Given the description of an element on the screen output the (x, y) to click on. 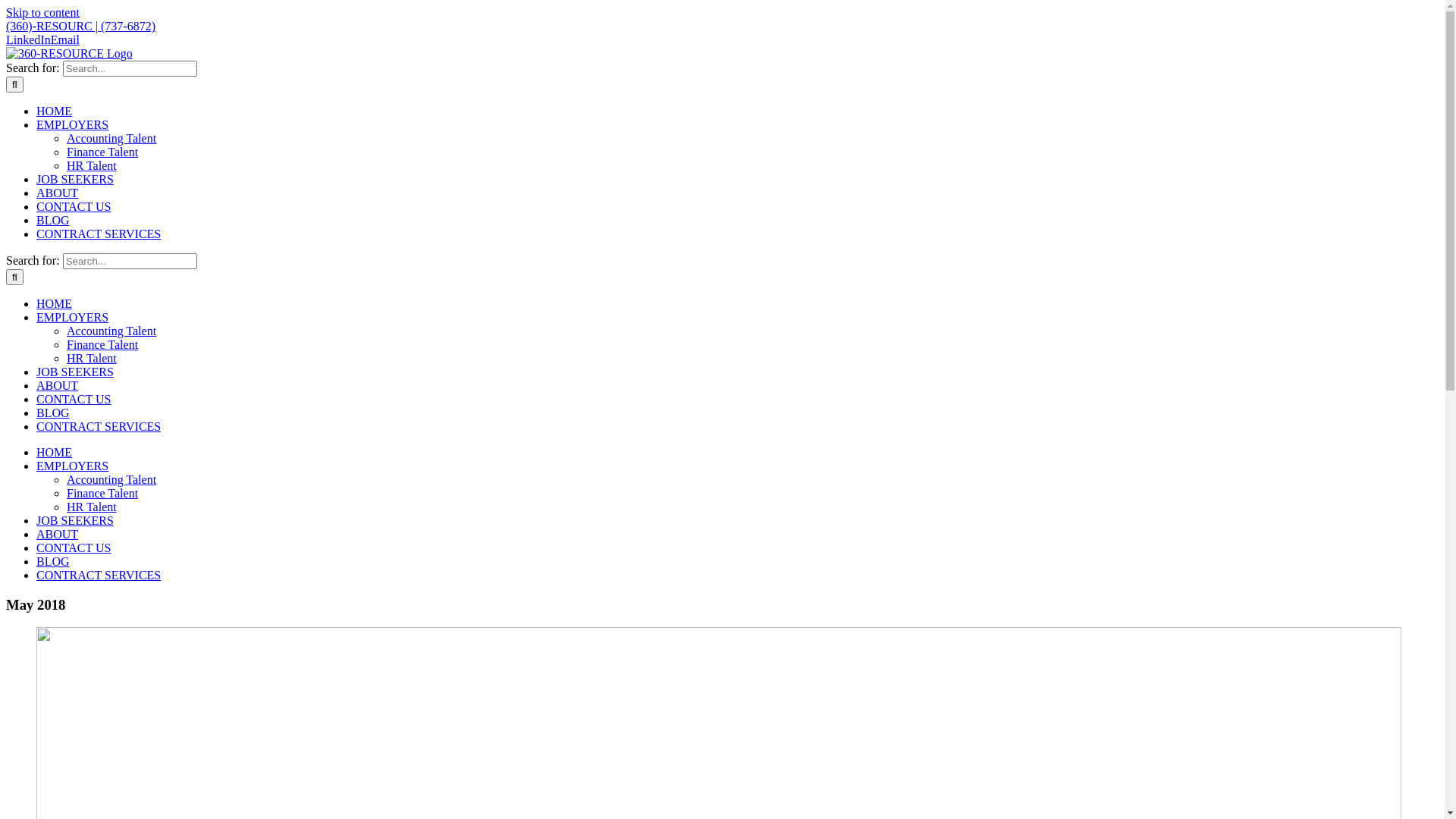
EMPLOYERS Element type: text (72, 124)
CONTACT US Element type: text (73, 547)
Skip to content Element type: text (42, 12)
Finance Talent Element type: text (102, 344)
HOME Element type: text (54, 110)
HR Talent Element type: text (91, 506)
CONTACT US Element type: text (73, 206)
LinkedIn Element type: text (28, 39)
ABOUT Element type: text (57, 533)
EMPLOYERS Element type: text (72, 316)
Accounting Talent Element type: text (111, 137)
HOME Element type: text (54, 303)
ABOUT Element type: text (57, 385)
Accounting Talent Element type: text (111, 330)
CONTACT US Element type: text (73, 398)
Accounting Talent Element type: text (111, 479)
JOB SEEKERS Element type: text (74, 178)
(360)-RESOURC | (737-6872) Element type: text (80, 25)
Finance Talent Element type: text (102, 492)
CONTRACT SERVICES Element type: text (98, 574)
BLOG Element type: text (52, 561)
BLOG Element type: text (52, 219)
HOME Element type: text (54, 451)
CONTRACT SERVICES Element type: text (98, 233)
BLOG Element type: text (52, 412)
EMPLOYERS Element type: text (72, 465)
ABOUT Element type: text (57, 192)
Email Element type: text (64, 39)
Finance Talent Element type: text (102, 151)
CONTRACT SERVICES Element type: text (98, 426)
JOB SEEKERS Element type: text (74, 371)
HR Talent Element type: text (91, 165)
JOB SEEKERS Element type: text (74, 520)
HR Talent Element type: text (91, 357)
